Given the description of an element on the screen output the (x, y) to click on. 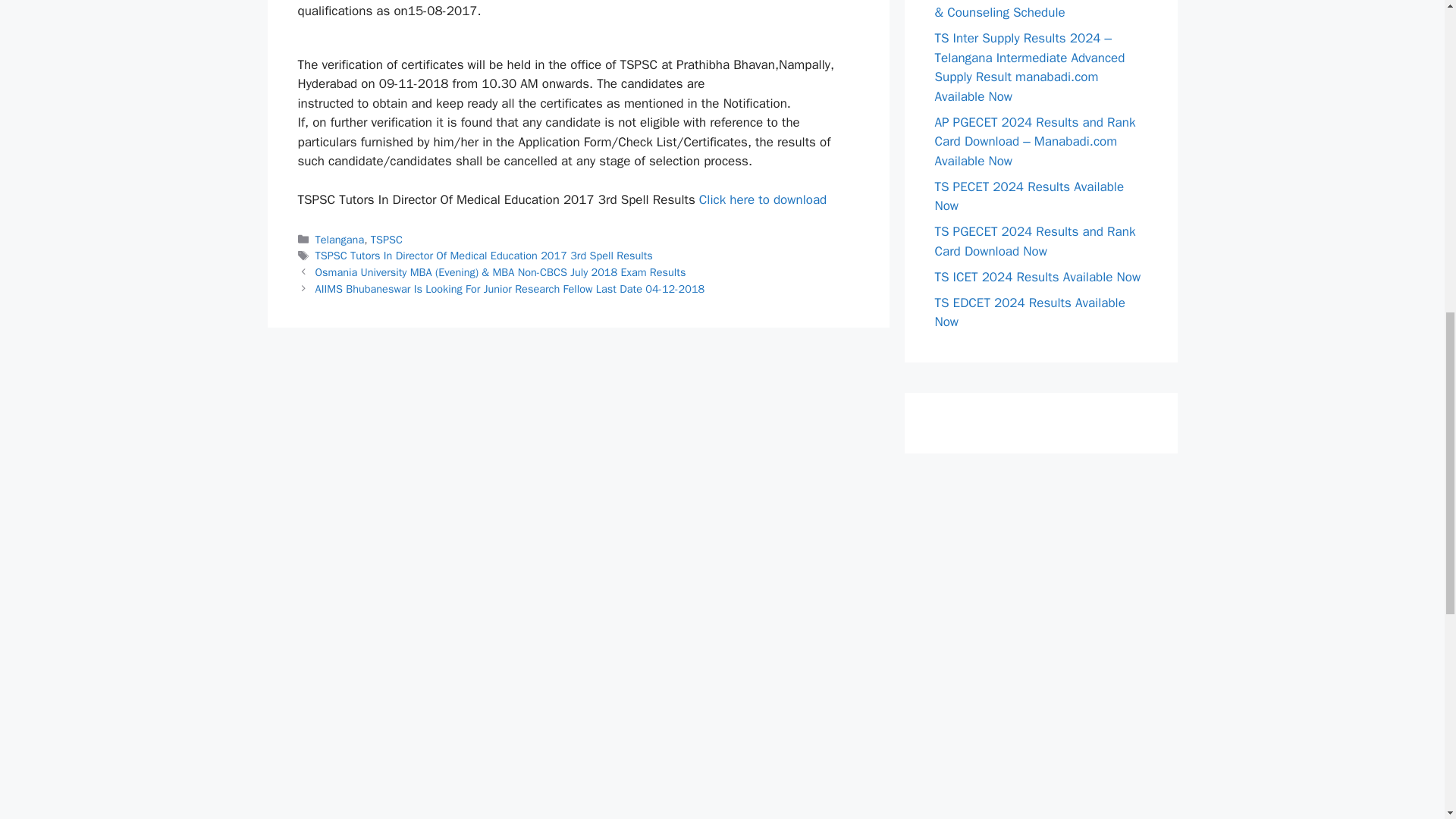
TSPSC (387, 239)
Advertisement (1040, 574)
Click here to download (762, 199)
Telangana (340, 239)
Advertisement (721, 761)
